Given the description of an element on the screen output the (x, y) to click on. 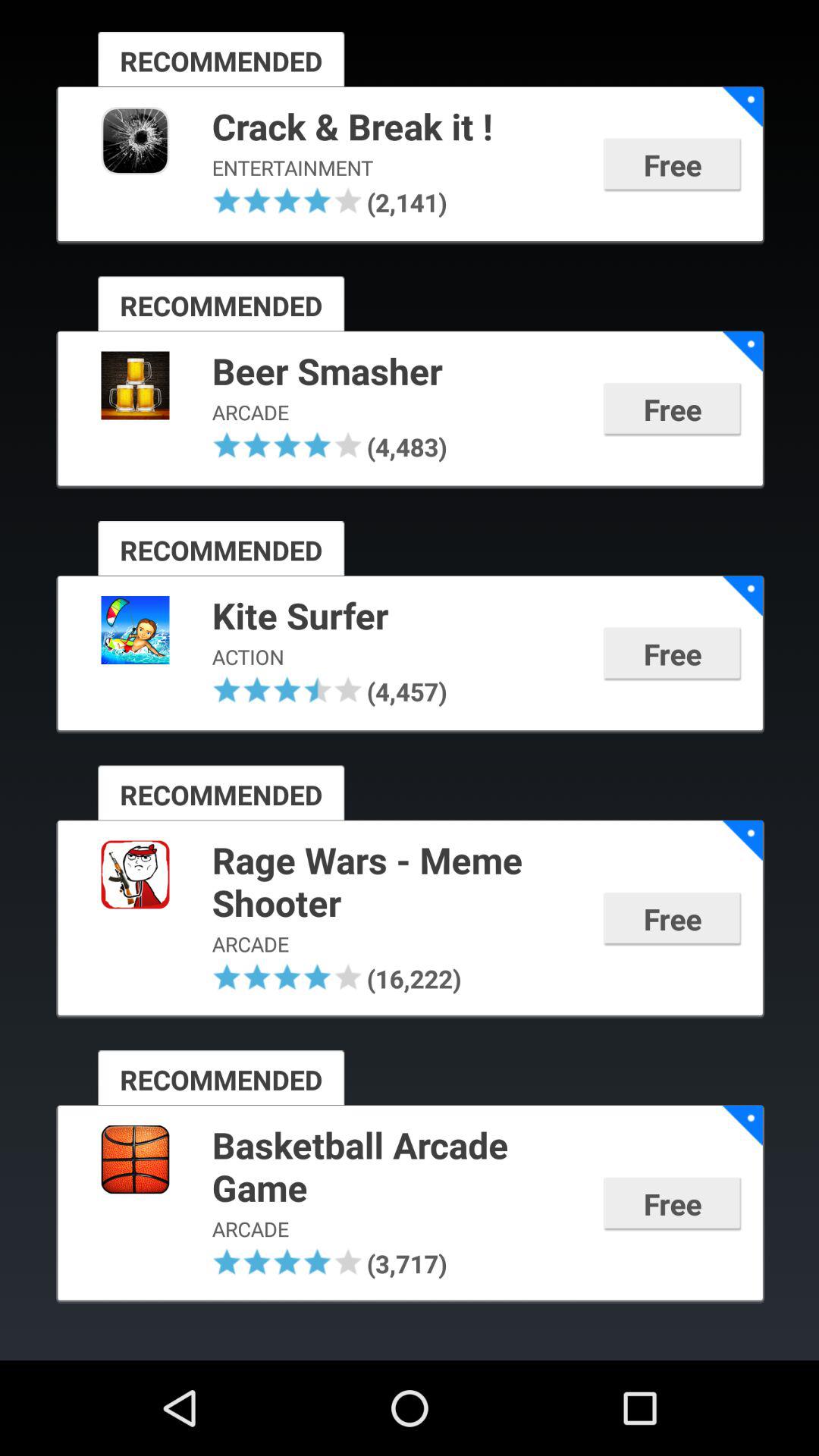
click item below the action app (257, 689)
